Given the description of an element on the screen output the (x, y) to click on. 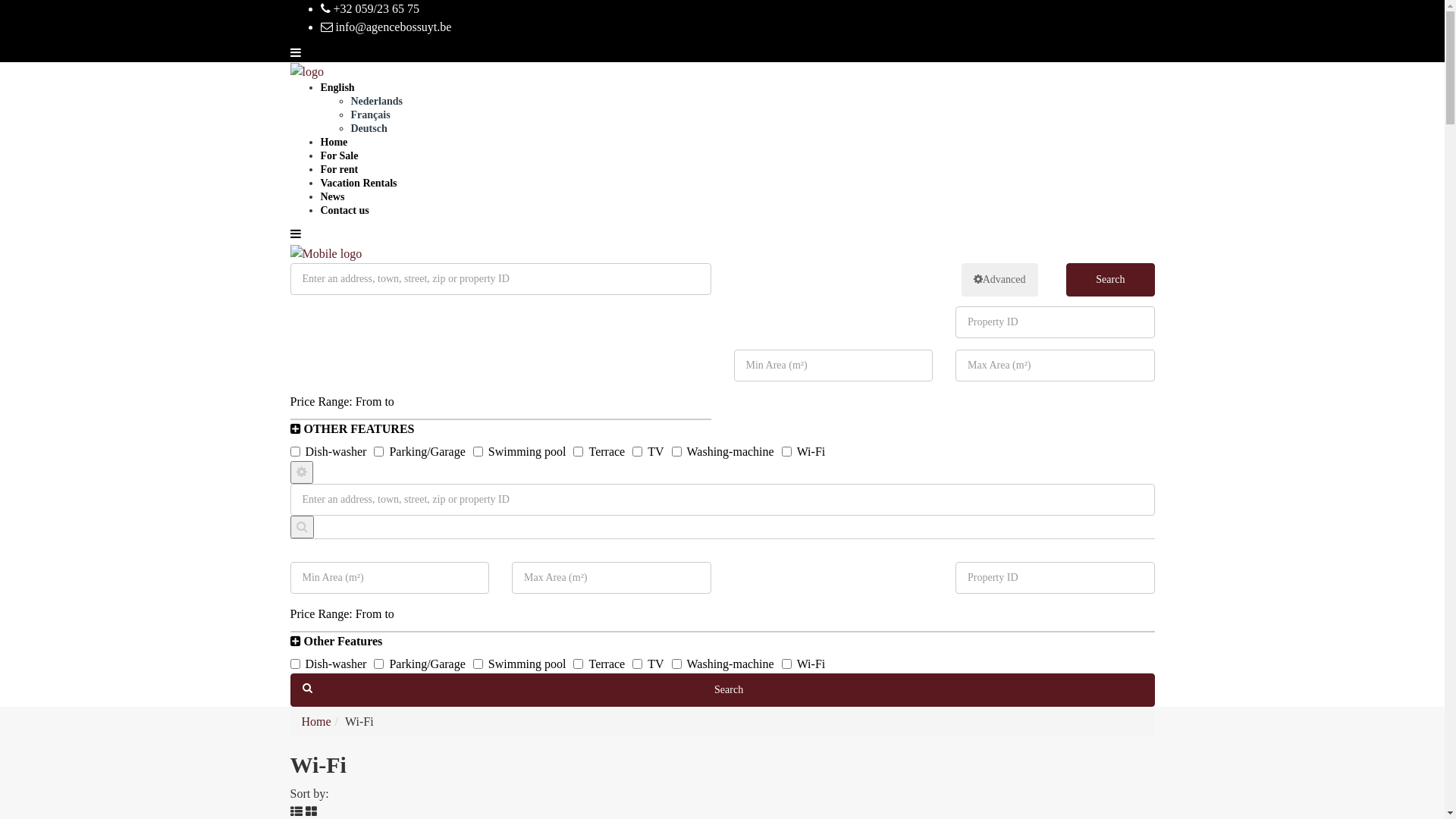
Home Element type: text (333, 141)
Vacation Rentals Element type: text (358, 182)
info@agencebossuyt.be Element type: text (385, 26)
Deutsch Element type: text (368, 128)
English Element type: text (337, 87)
Nederlands Element type: text (375, 100)
Contact us Element type: text (344, 210)
Search Element type: text (1110, 279)
+32 059/23 65 75 Element type: text (369, 8)
News Element type: text (332, 196)
Advanced Element type: text (999, 279)
For Sale Element type: text (338, 155)
Search Element type: text (721, 689)
Home Element type: text (316, 721)
For rent Element type: text (338, 169)
